Given the description of an element on the screen output the (x, y) to click on. 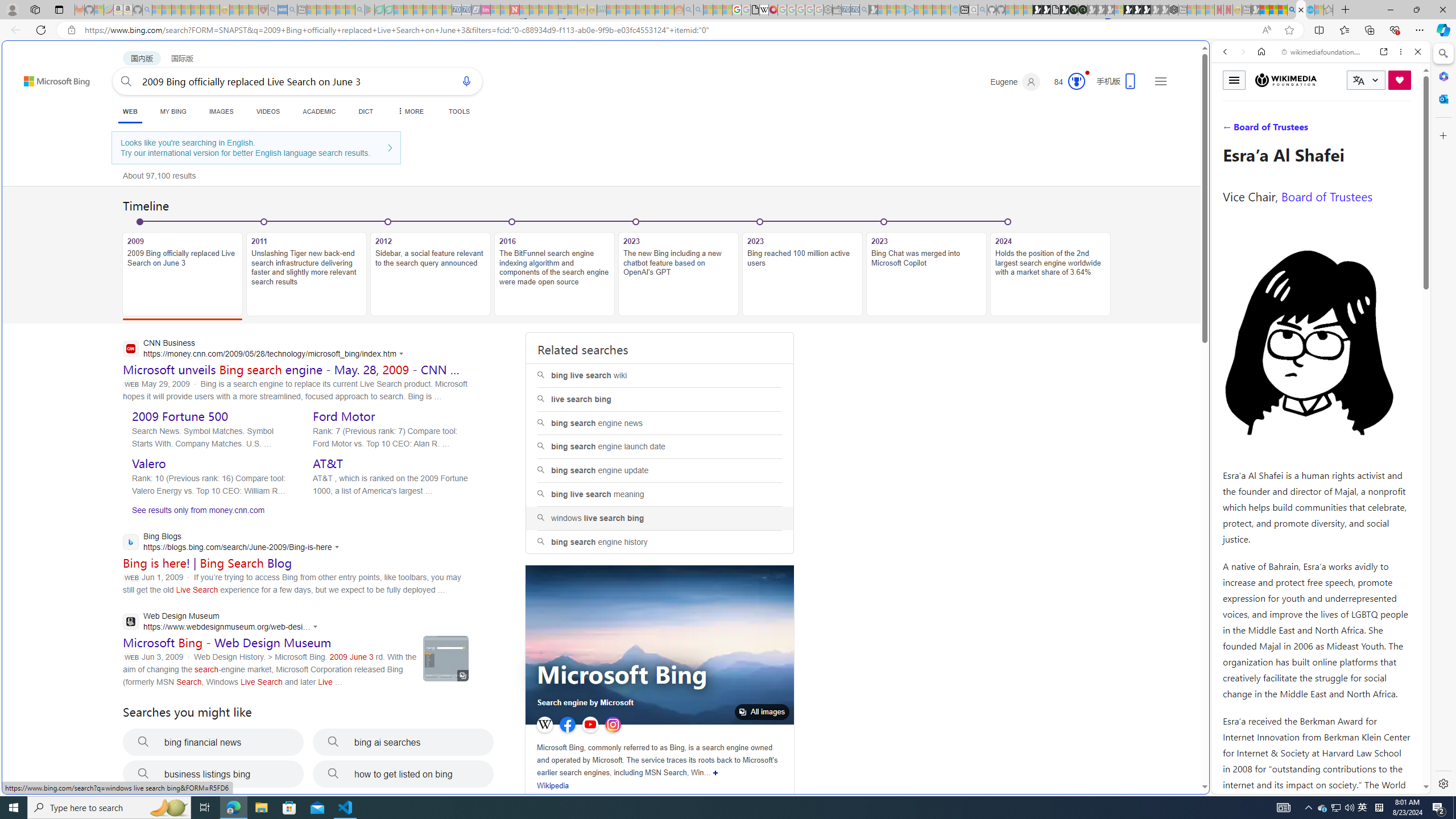
google_privacy_policy_zh-CN.pdf (1118, 683)
bing search engine update (659, 470)
Play Zoo Boom in your browser | Games from Microsoft Start (1045, 9)
Search button (126, 80)
Search more (1179, 753)
2023Bing Chat was merged into Microsoft Copilot (925, 267)
